Given the description of an element on the screen output the (x, y) to click on. 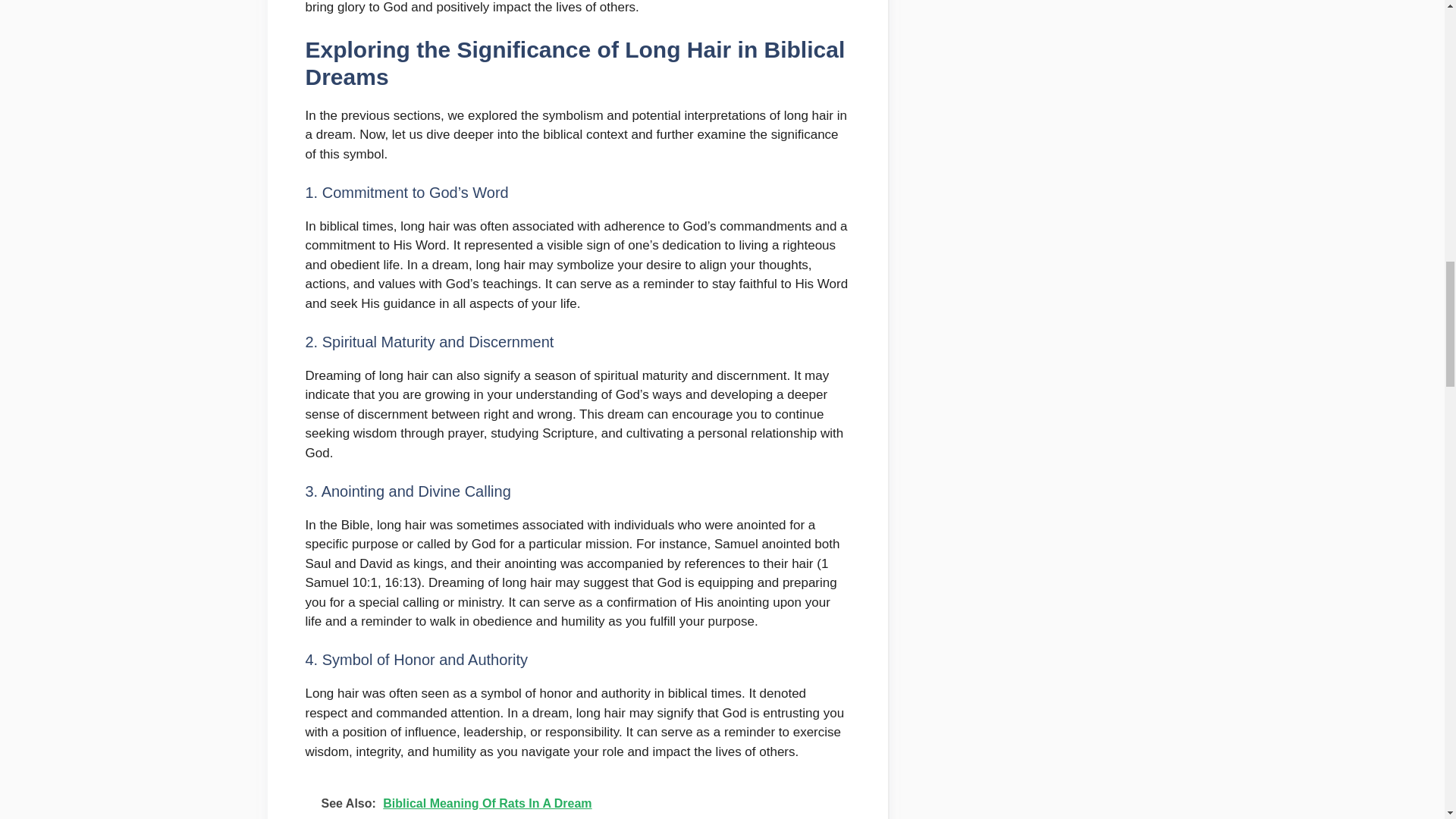
See Also:  Biblical Meaning Of Rats In A Dream (576, 800)
